Given the description of an element on the screen output the (x, y) to click on. 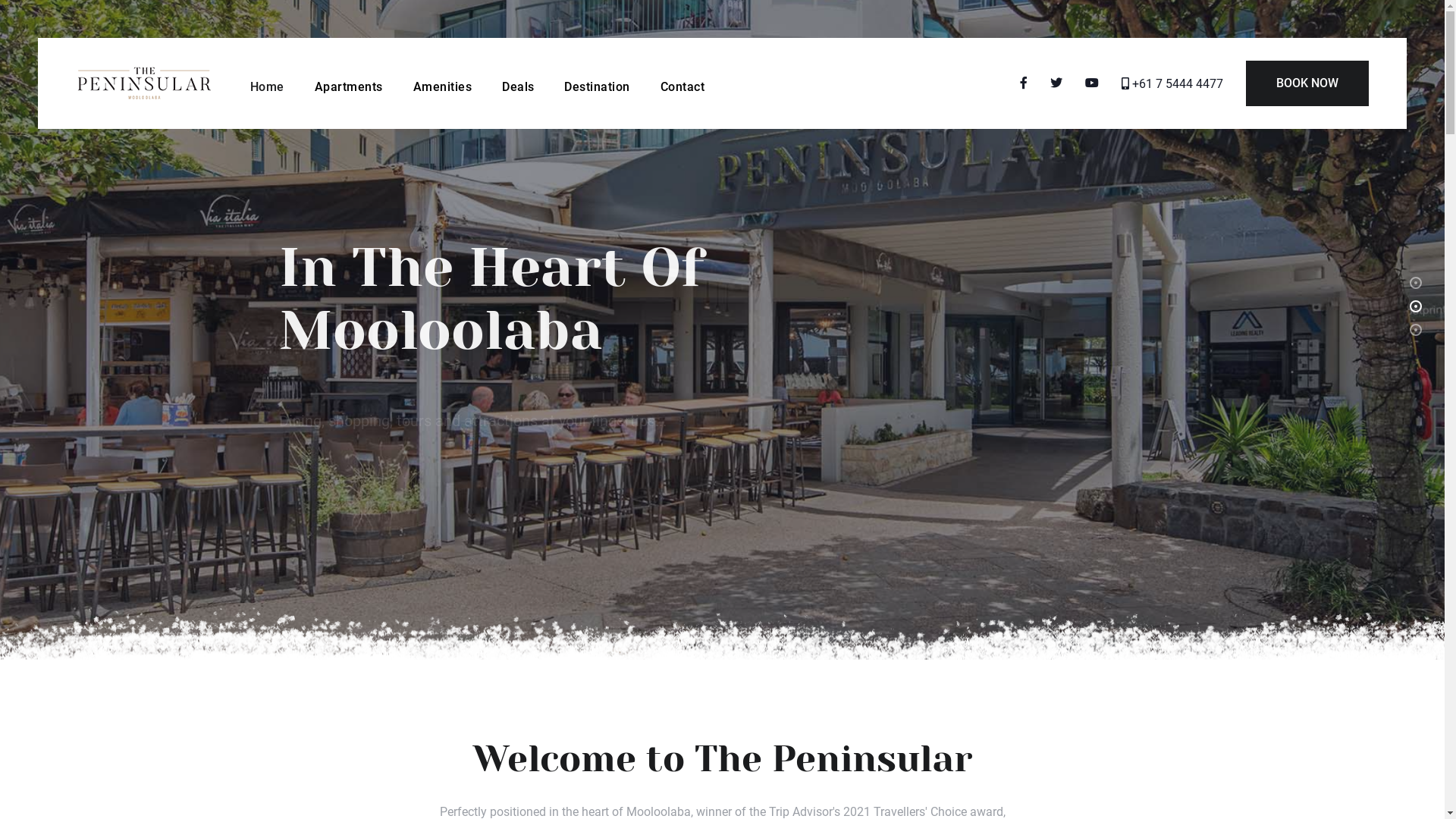
Deals Element type: text (517, 83)
Amenities Element type: text (442, 83)
+61 7 5444 4477 Element type: text (1172, 83)
Peninsular Beachfront Resort Mooloolaba Element type: hover (143, 82)
Apartments Element type: text (348, 83)
BOOK NOW Element type: text (1306, 83)
Contact Element type: text (682, 83)
Destination Element type: text (596, 83)
Book Your Stay Element type: text (350, 451)
Peninsular Beachfront Resort Mooloolaba Element type: hover (143, 83)
Home Element type: text (267, 83)
